Given the description of an element on the screen output the (x, y) to click on. 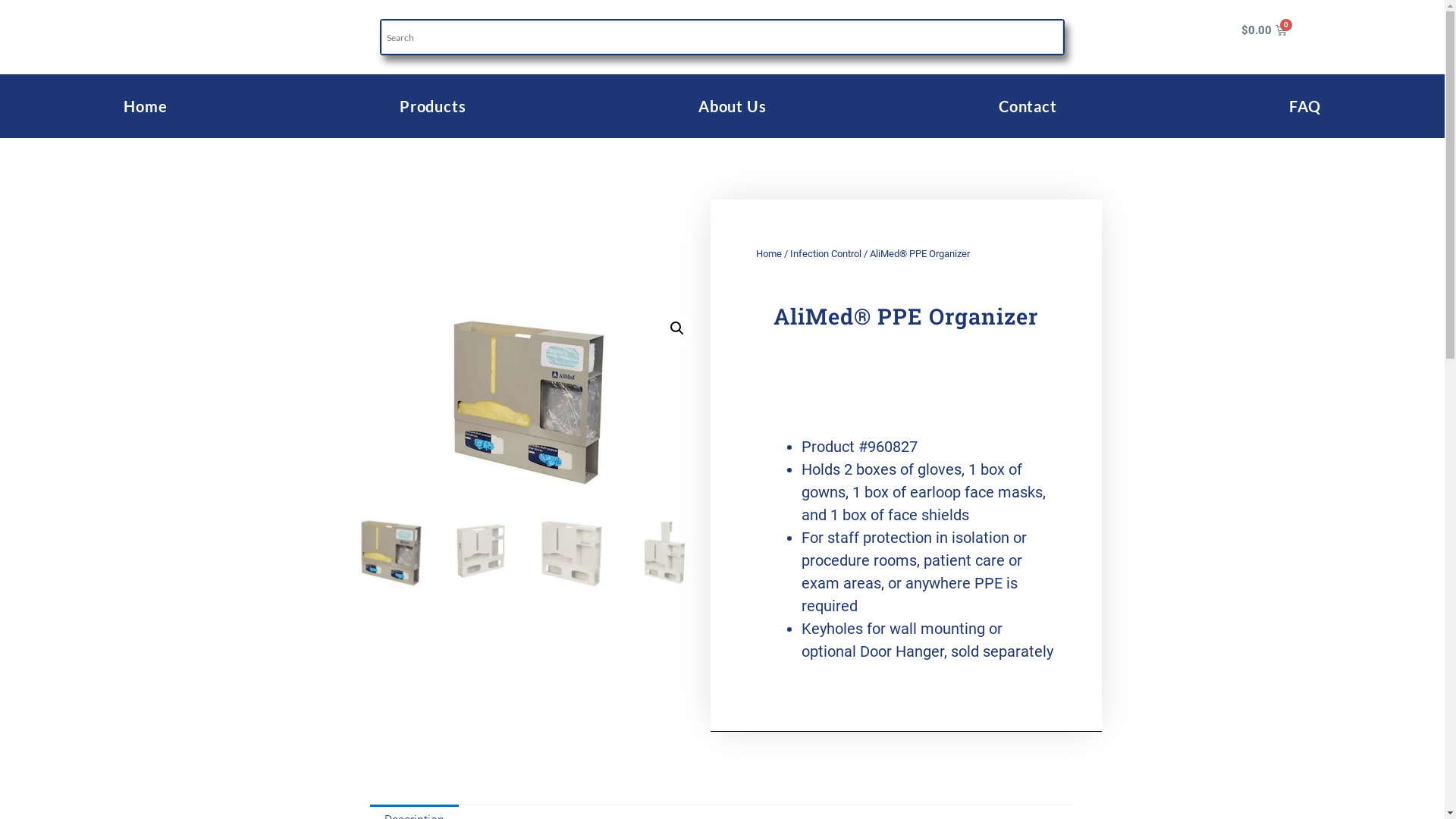
$0.00
0 Element type: text (1263, 30)
About Us Element type: text (732, 105)
Infection Control Element type: text (825, 253)
FAQ Element type: text (1305, 105)
Home Element type: text (145, 105)
Home Element type: text (768, 253)
960827L_850x480-pad Element type: hover (526, 401)
Products Element type: text (432, 105)
Contact Element type: text (1027, 105)
